Given the description of an element on the screen output the (x, y) to click on. 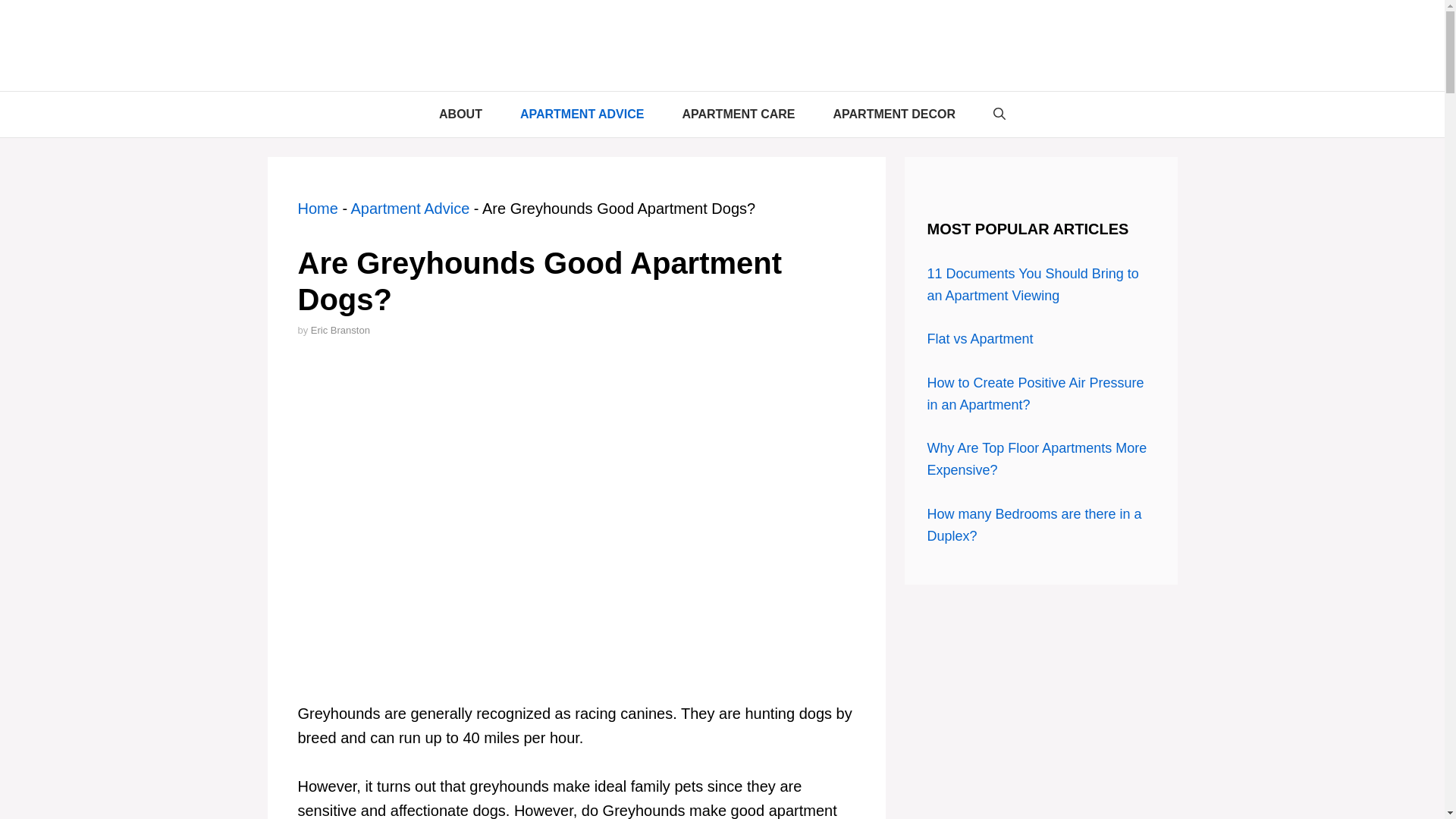
Home (317, 208)
How to Create Positive Air Pressure in an Apartment? (1034, 393)
Eric Branston (340, 329)
11 Documents You Should Bring to an Apartment Viewing (1032, 284)
View all posts by Eric Branston (340, 329)
ABOUT (460, 114)
APARTMENT ADVICE (581, 114)
Apartment Advice (410, 208)
Flat vs Apartment (979, 338)
APARTMENT CARE (737, 114)
